Given the description of an element on the screen output the (x, y) to click on. 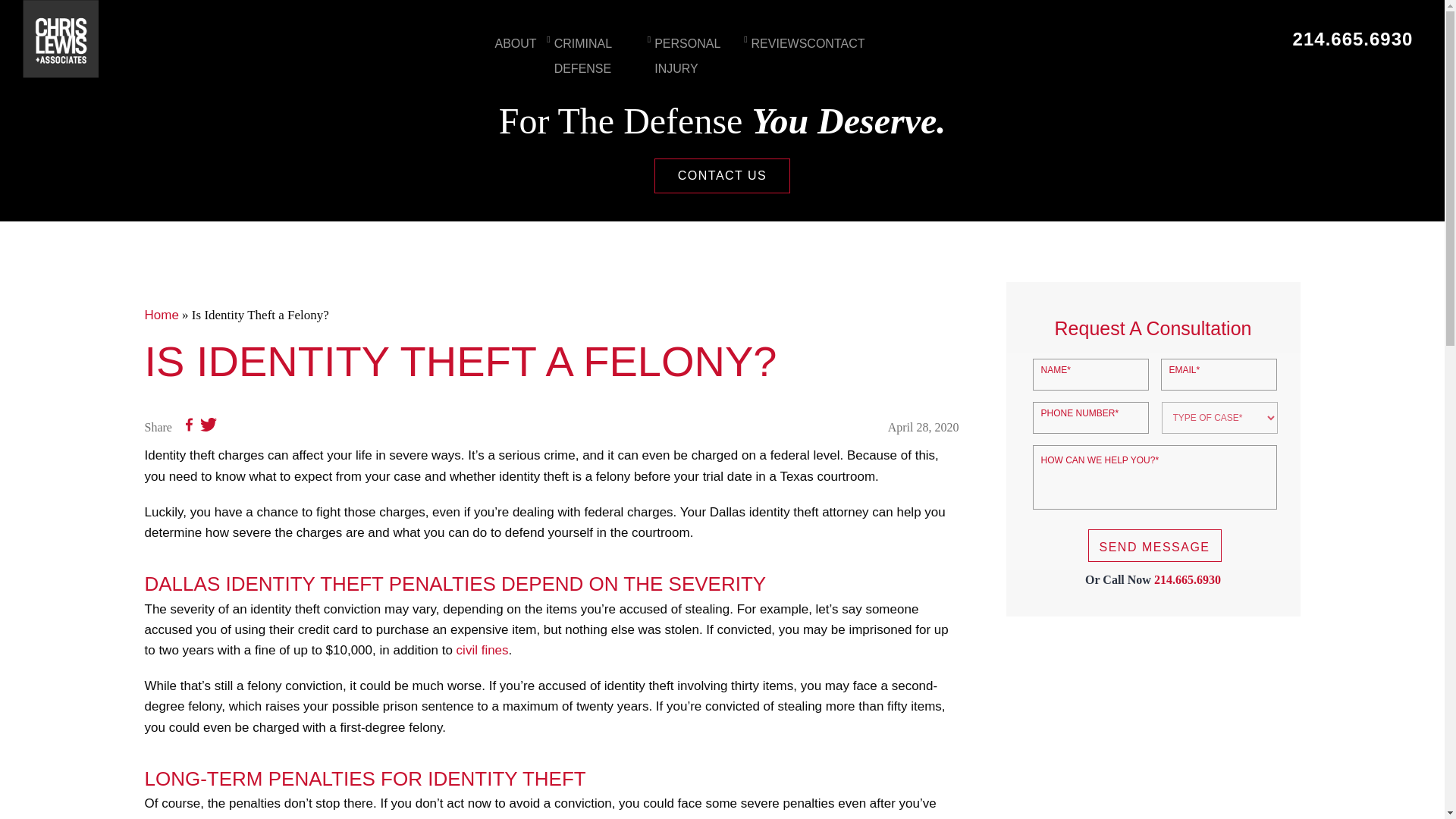
ABOUT (515, 43)
CRIMINAL DEFENSE (595, 56)
Send Message (1154, 545)
